Given the description of an element on the screen output the (x, y) to click on. 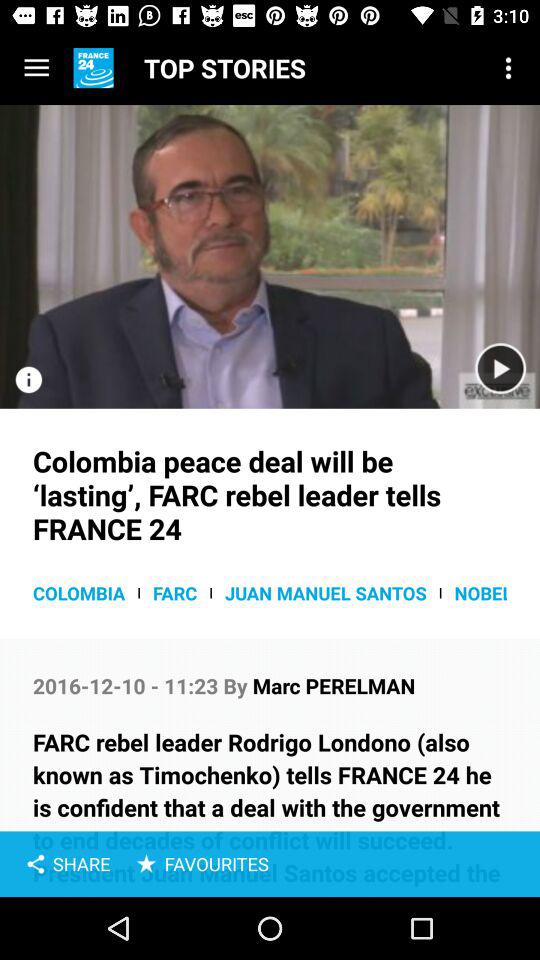
open main menu (36, 68)
